Given the description of an element on the screen output the (x, y) to click on. 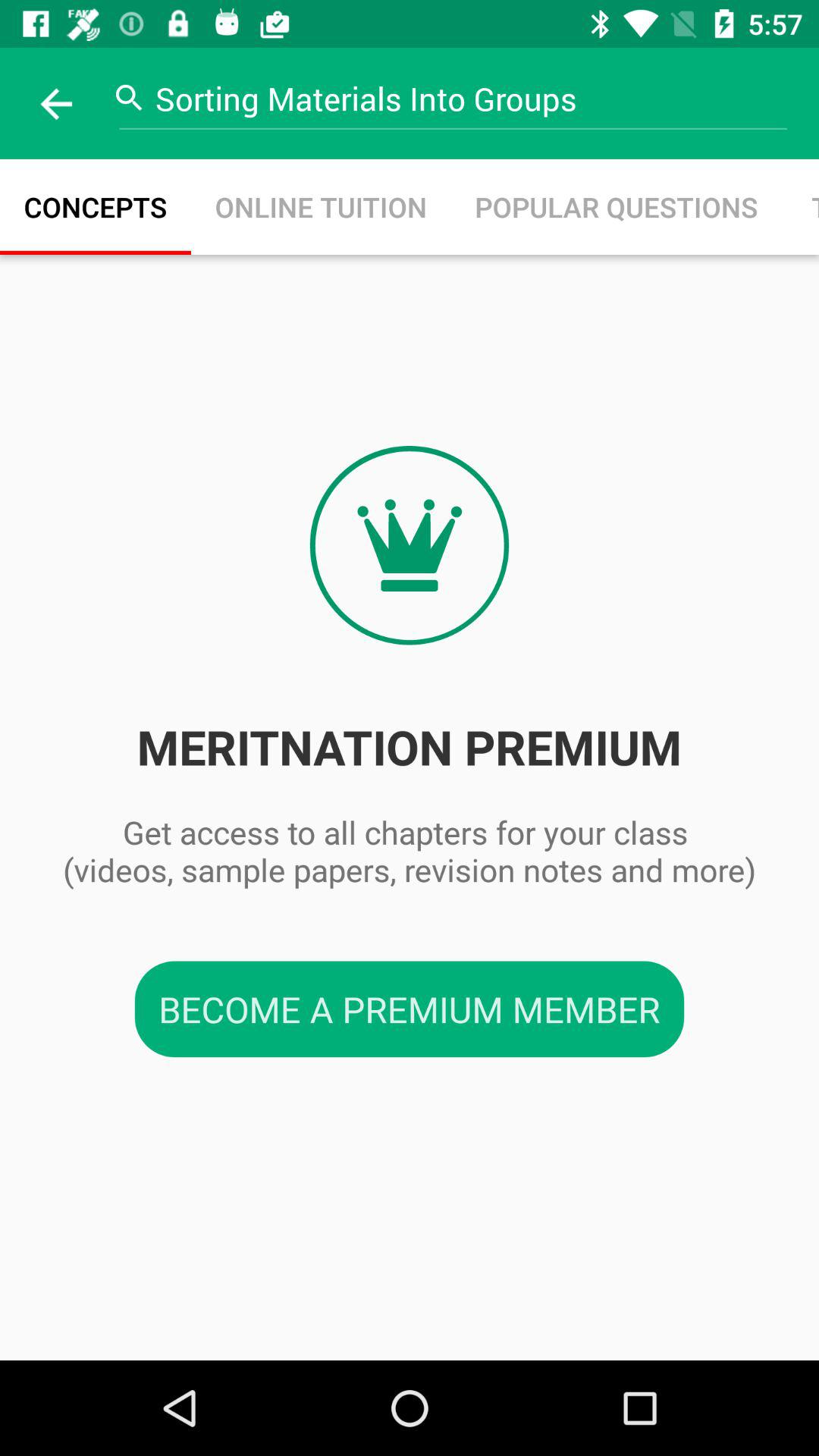
swipe until the become a premium icon (409, 1009)
